Given the description of an element on the screen output the (x, y) to click on. 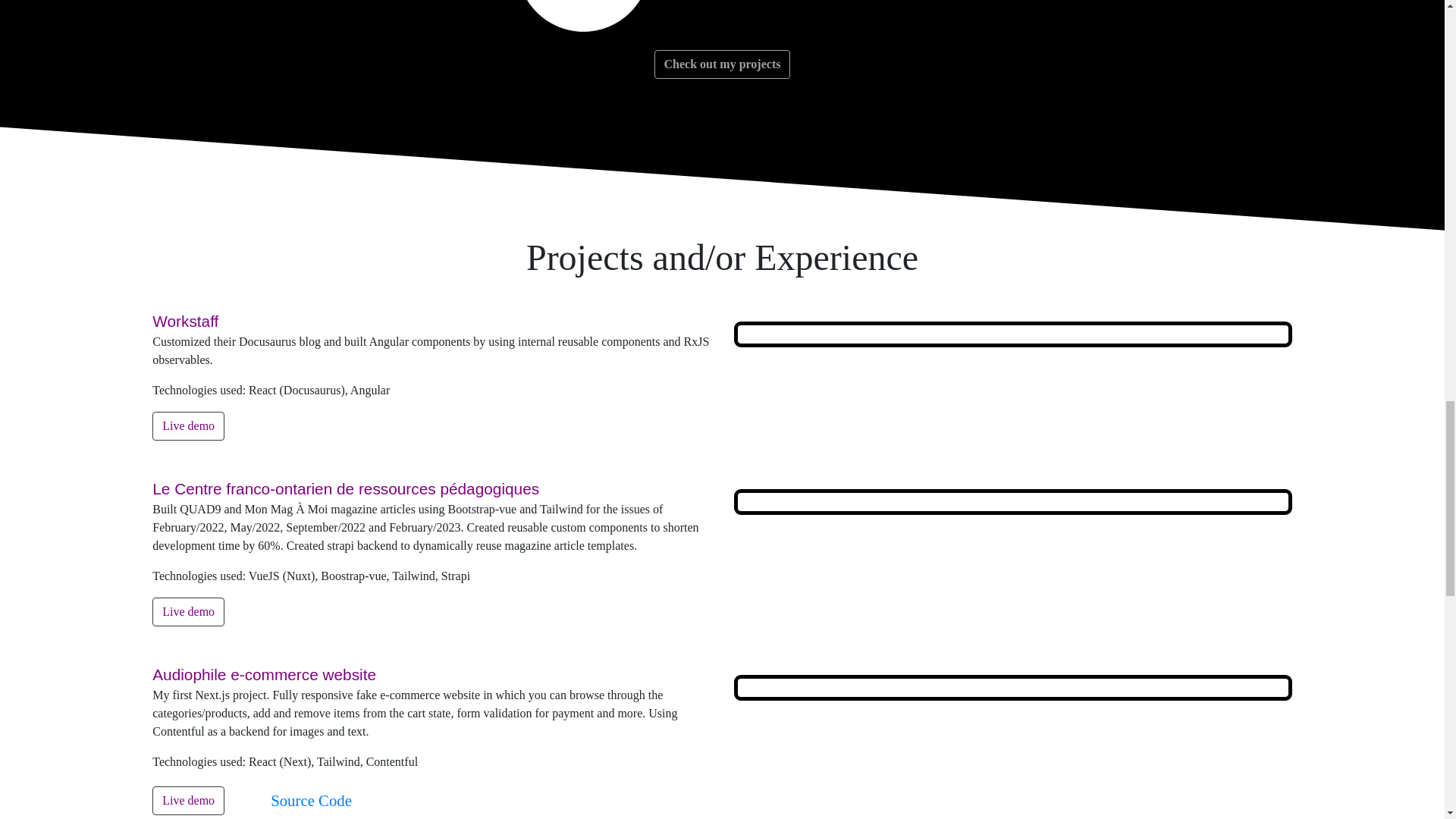
Live demo (188, 800)
Source Code (310, 799)
Live demo (188, 611)
Check out my projects (721, 63)
Live demo (188, 425)
